Given the description of an element on the screen output the (x, y) to click on. 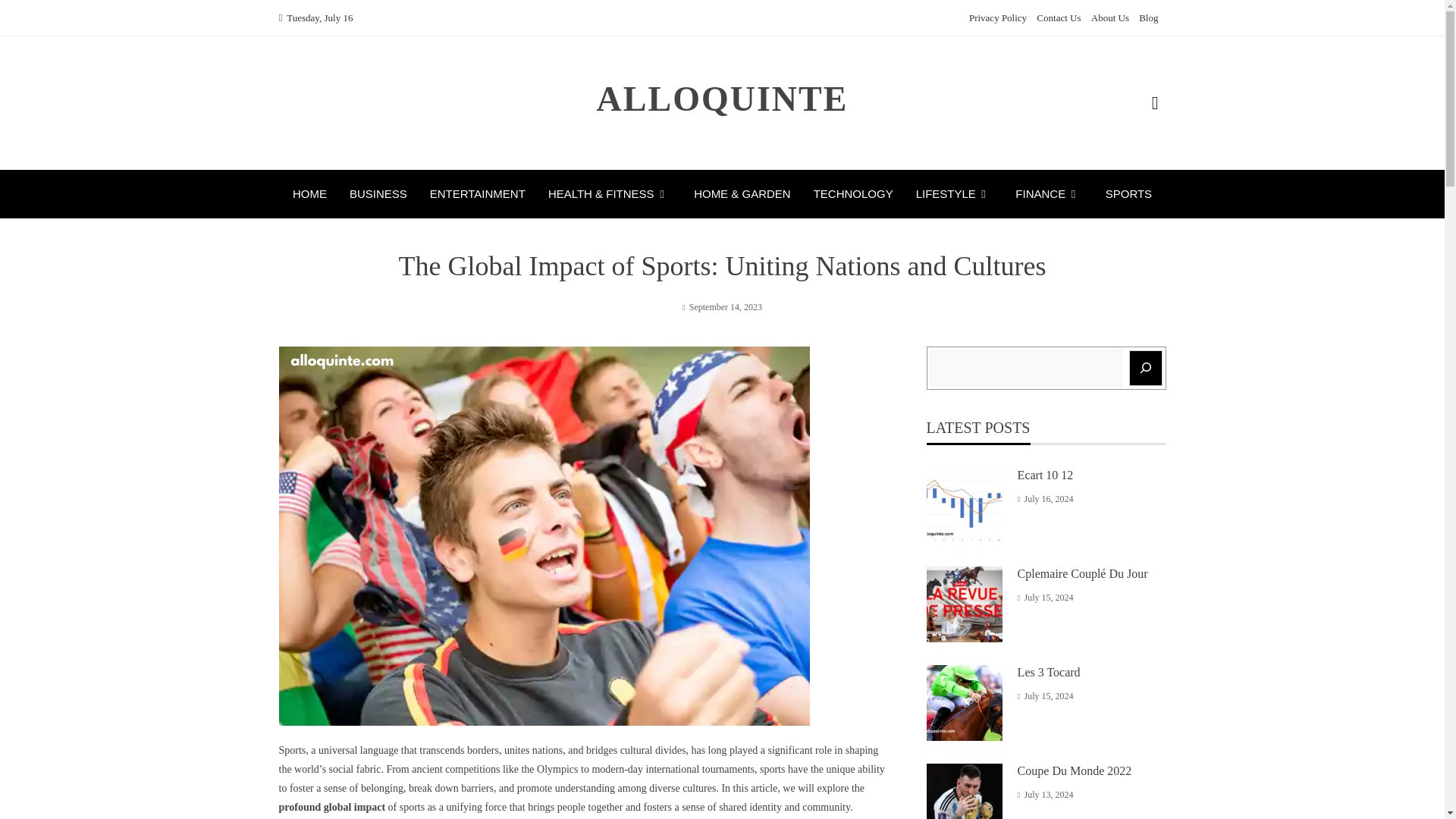
ALLOQUINTE (722, 98)
Ecart 10 12 (1045, 474)
ENTERTAINMENT (477, 193)
TECHNOLOGY (853, 193)
BUSINESS (378, 193)
SPORTS (1128, 193)
FINANCE (1047, 193)
Privacy Policy (997, 17)
About Us (1109, 17)
profound global impact (332, 807)
LIFESTYLE (953, 193)
Les 3 Tocard (1048, 671)
HOME (309, 193)
Blog (1147, 17)
Contact Us (1058, 17)
